Given the description of an element on the screen output the (x, y) to click on. 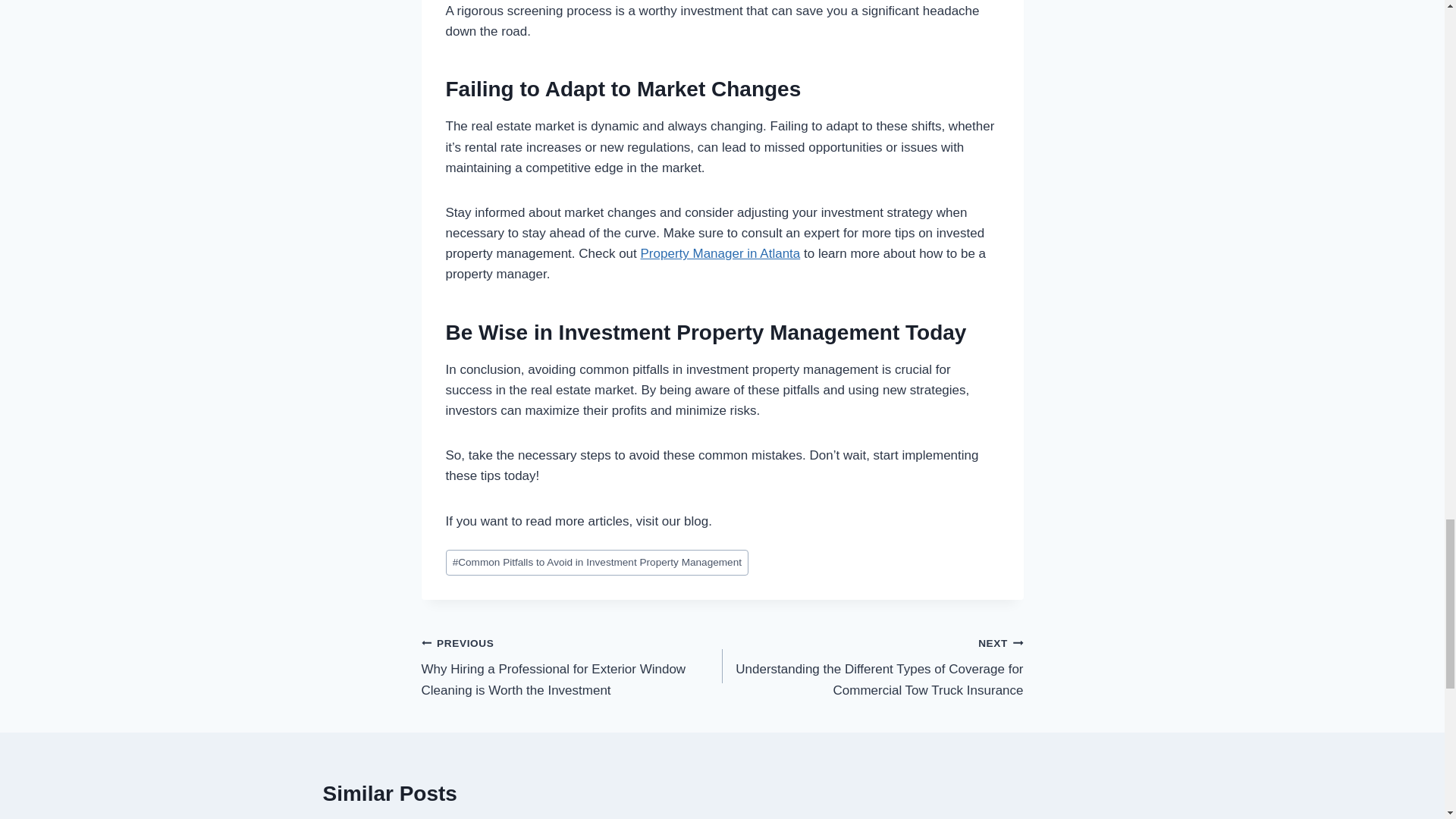
Property Manager in Atlanta (720, 253)
Common Pitfalls to Avoid in Investment Property Management (597, 562)
